Given the description of an element on the screen output the (x, y) to click on. 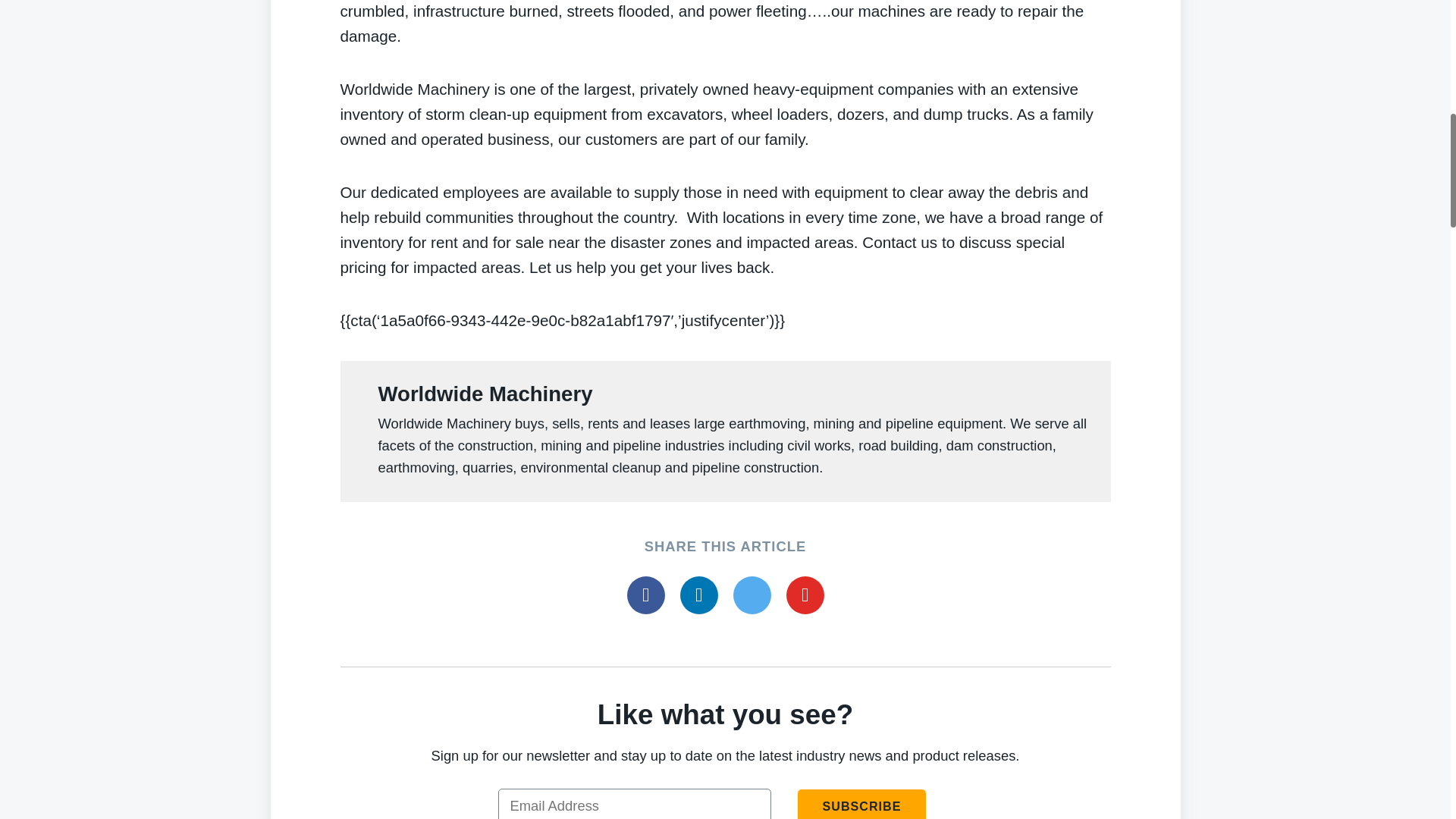
Subscribe (860, 804)
